Given the description of an element on the screen output the (x, y) to click on. 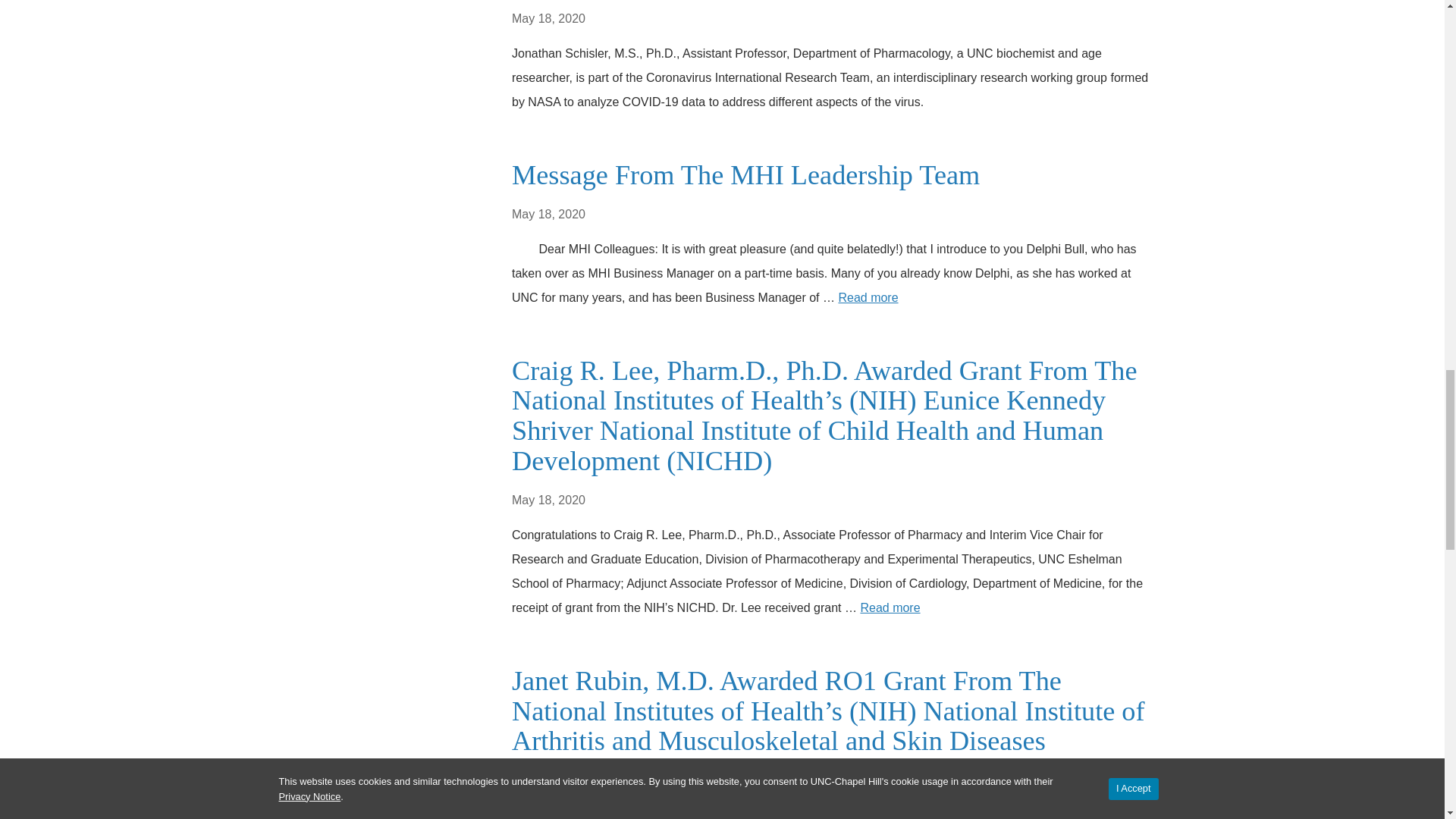
Message From The MHI Leadership Team (745, 174)
Read more (890, 607)
Read more (868, 297)
